Given the description of an element on the screen output the (x, y) to click on. 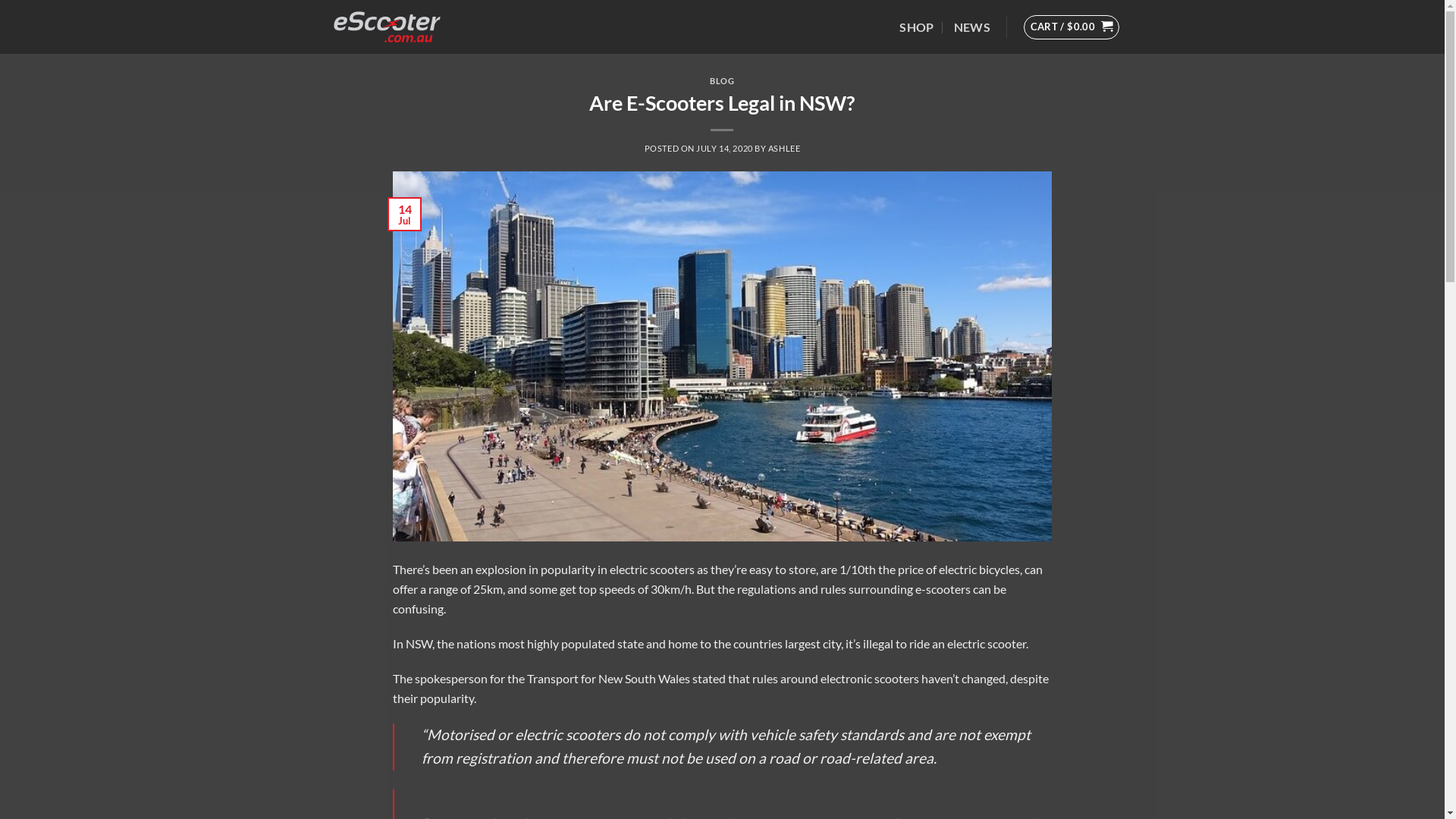
NEWS Element type: text (971, 26)
Skip to content Element type: text (0, 0)
SHOP Element type: text (916, 26)
BLOG Element type: text (721, 80)
eScooter - eScooter Australia Element type: hover (400, 26)
safety standards Element type: text (850, 734)
ASHLEE Element type: text (784, 148)
JULY 14, 2020 Element type: text (724, 148)
CART / $0.00 Element type: text (1071, 27)
